Given the description of an element on the screen output the (x, y) to click on. 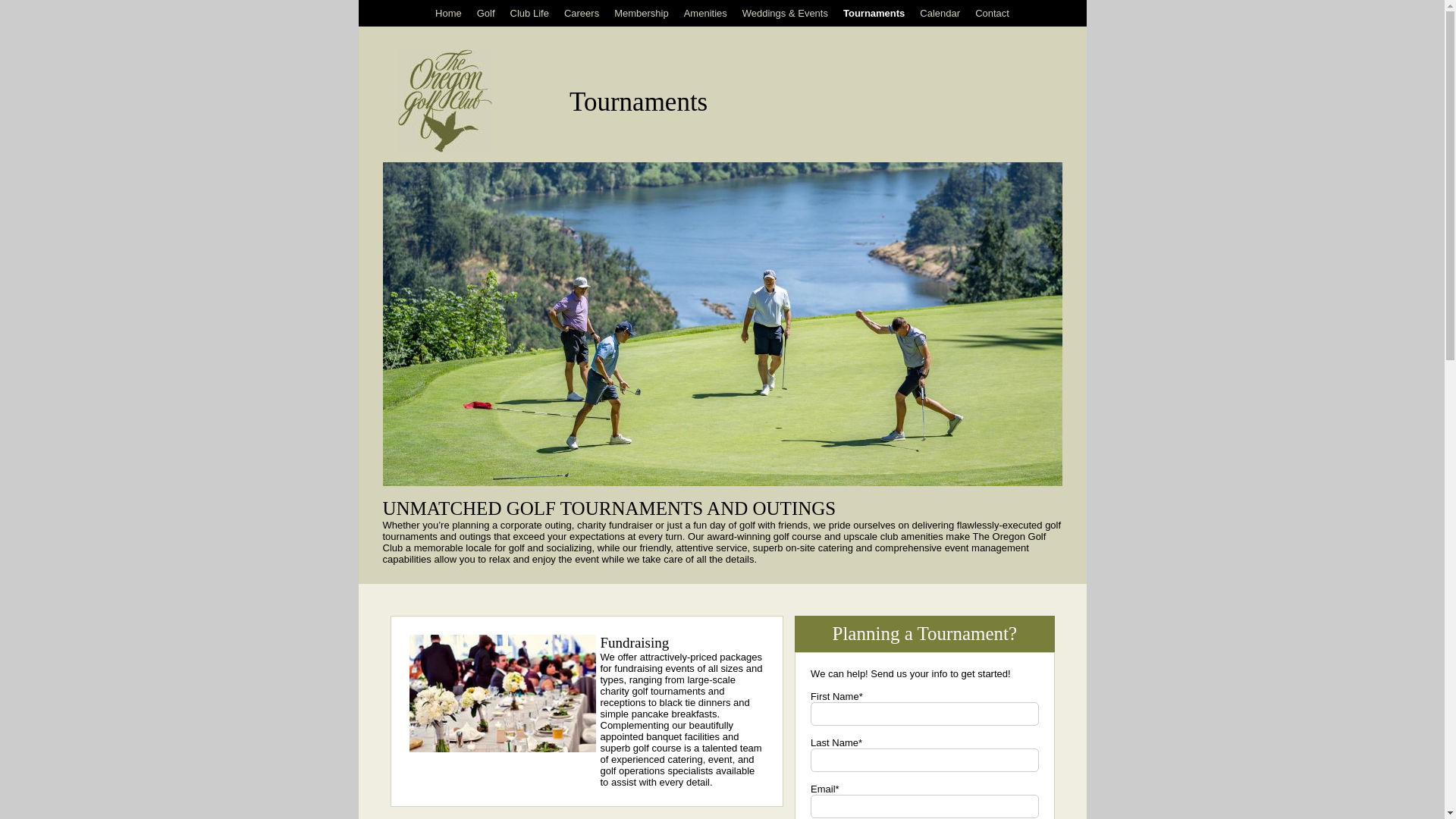
Careers (581, 13)
Tournaments (873, 13)
Golf (485, 13)
Home (444, 148)
Home (448, 13)
Calendar (940, 13)
Membership (642, 13)
Contact (992, 13)
Amenities (706, 13)
Club Life (529, 13)
